Given the description of an element on the screen output the (x, y) to click on. 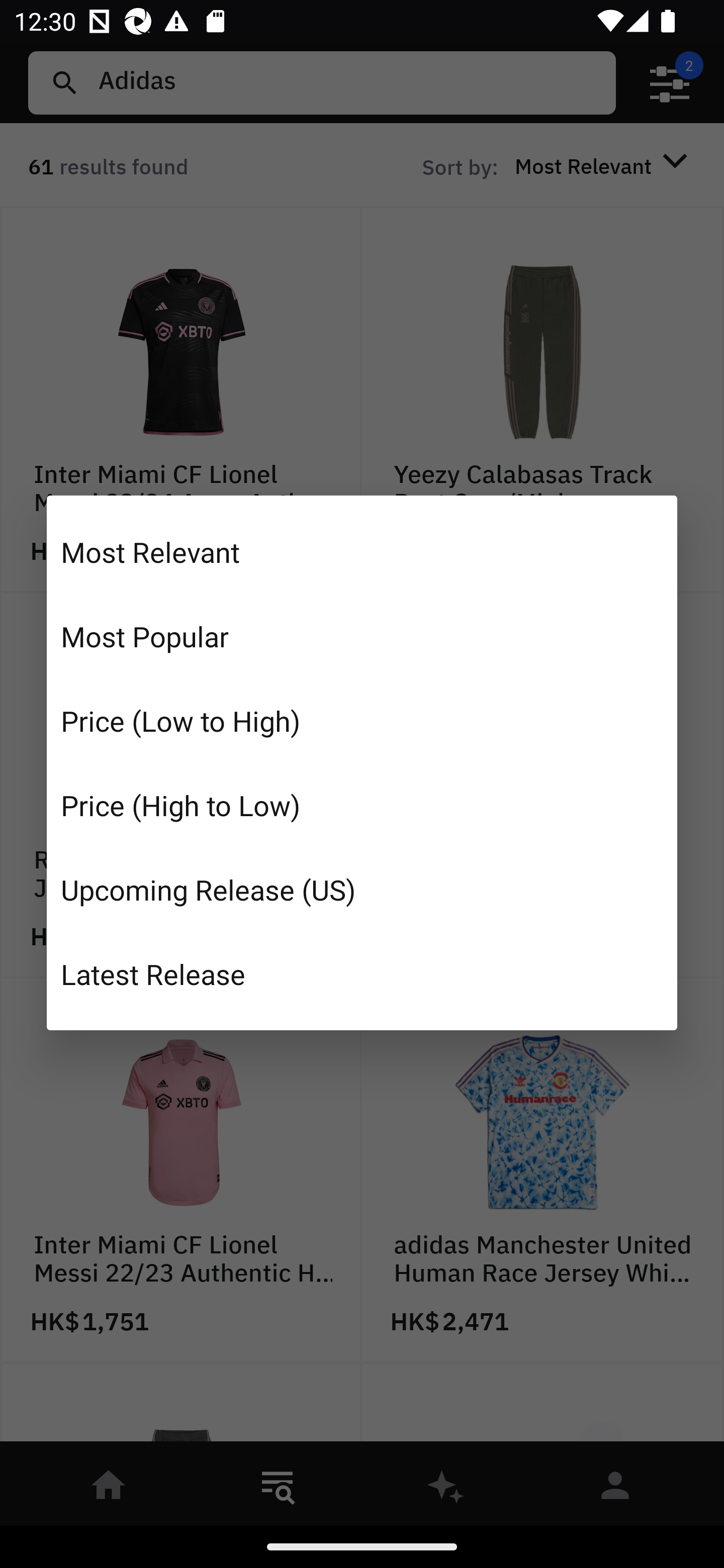
Most Relevant (361, 551)
Most Popular (361, 636)
Price (Low to High) (361, 720)
Price (High to Low) (361, 804)
Upcoming Release (US) (361, 888)
Latest Release (361, 973)
